Given the description of an element on the screen output the (x, y) to click on. 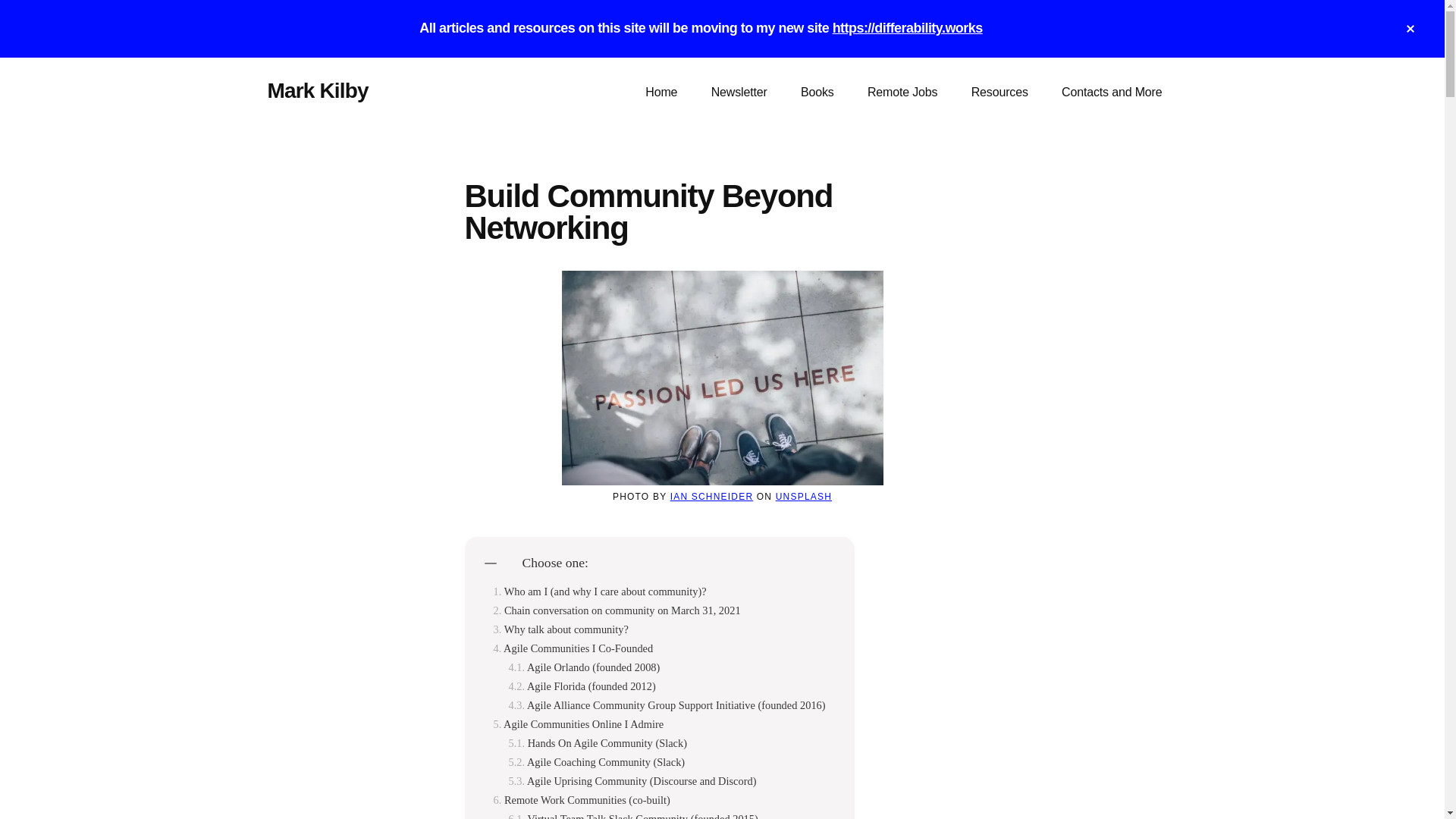
UNSPLASH (803, 496)
Remote Jobs (902, 92)
Agile Communities Online I Admire (578, 724)
Newsletter (739, 92)
Resources (999, 92)
Home (661, 92)
Why talk about community?   (560, 629)
Contacts and More (1111, 92)
IAN SCHNEIDER (711, 496)
Chain conversation on community on March 31, 2021 (616, 610)
